Given the description of an element on the screen output the (x, y) to click on. 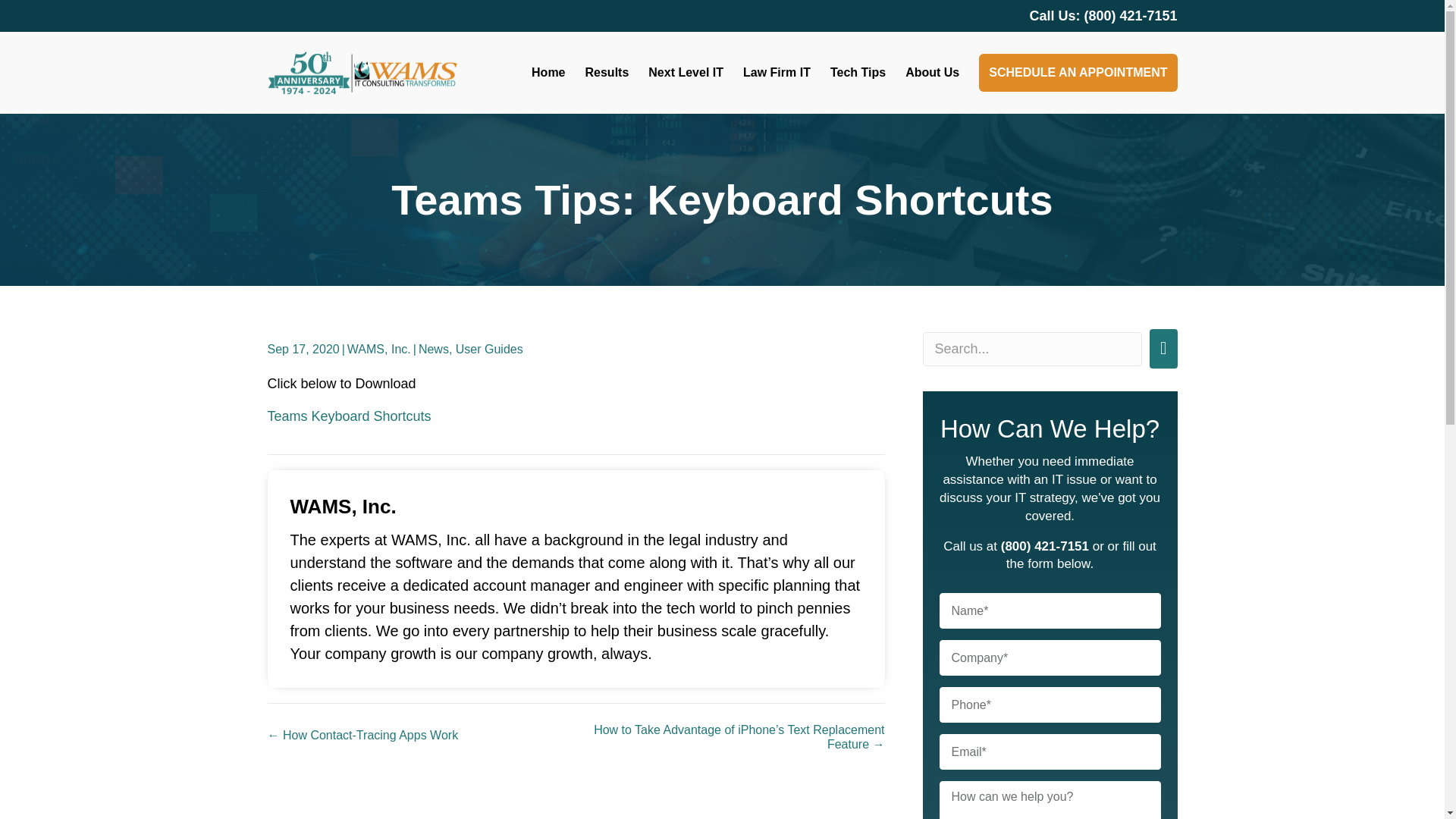
Law Firm IT (776, 72)
Results (606, 72)
Home (547, 72)
logo-lg (361, 72)
SCHEDULE AN APPOINTMENT (1077, 72)
Tech Tips (857, 72)
WAMS, Inc. (378, 349)
Teams Keyboard Shortcuts (348, 416)
Next Level IT (685, 72)
News (433, 349)
User Guides (488, 349)
About Us (932, 72)
